Given the description of an element on the screen output the (x, y) to click on. 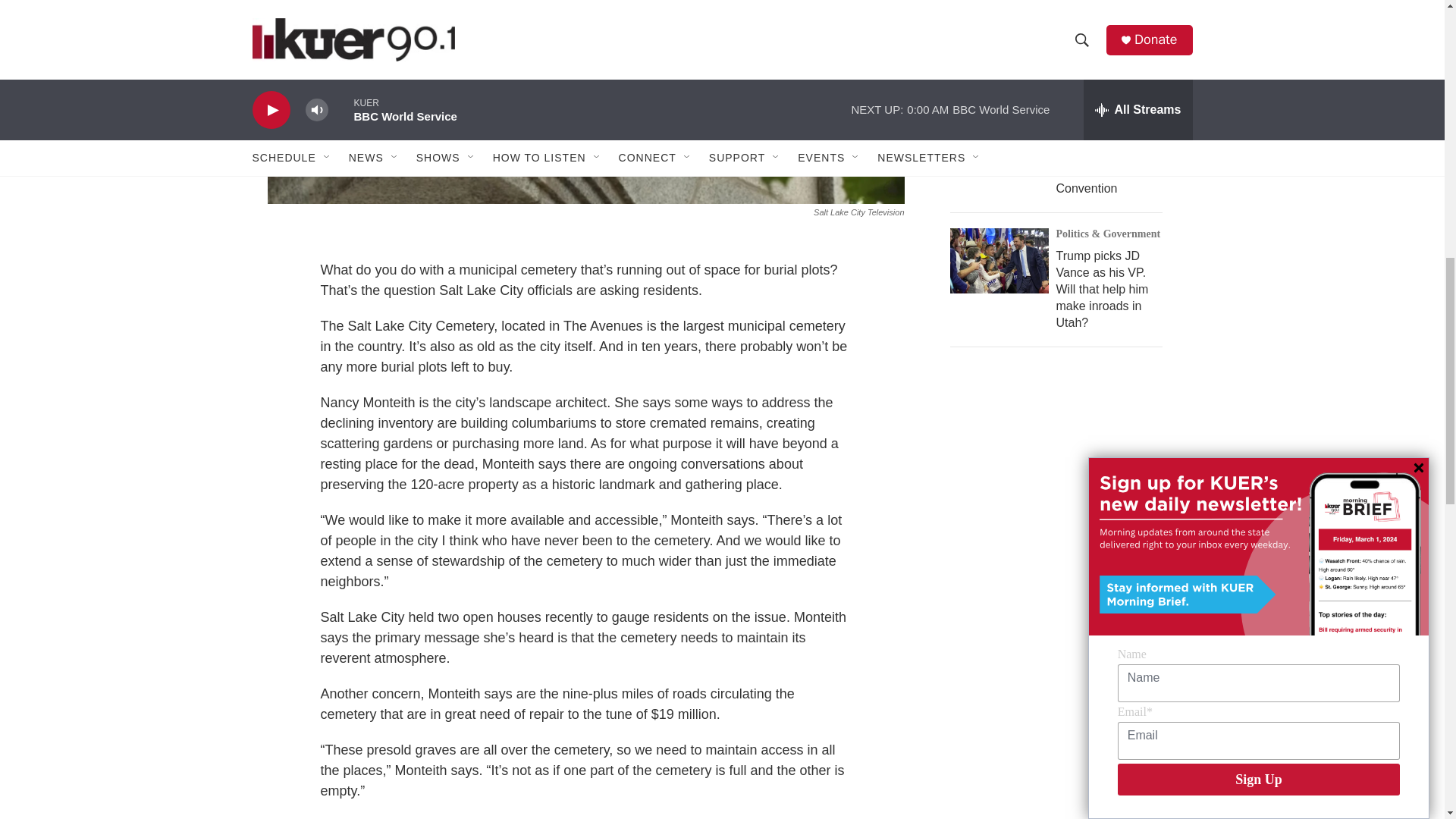
3rd party ad content (1062, 727)
3rd party ad content (1062, 491)
